Given the description of an element on the screen output the (x, y) to click on. 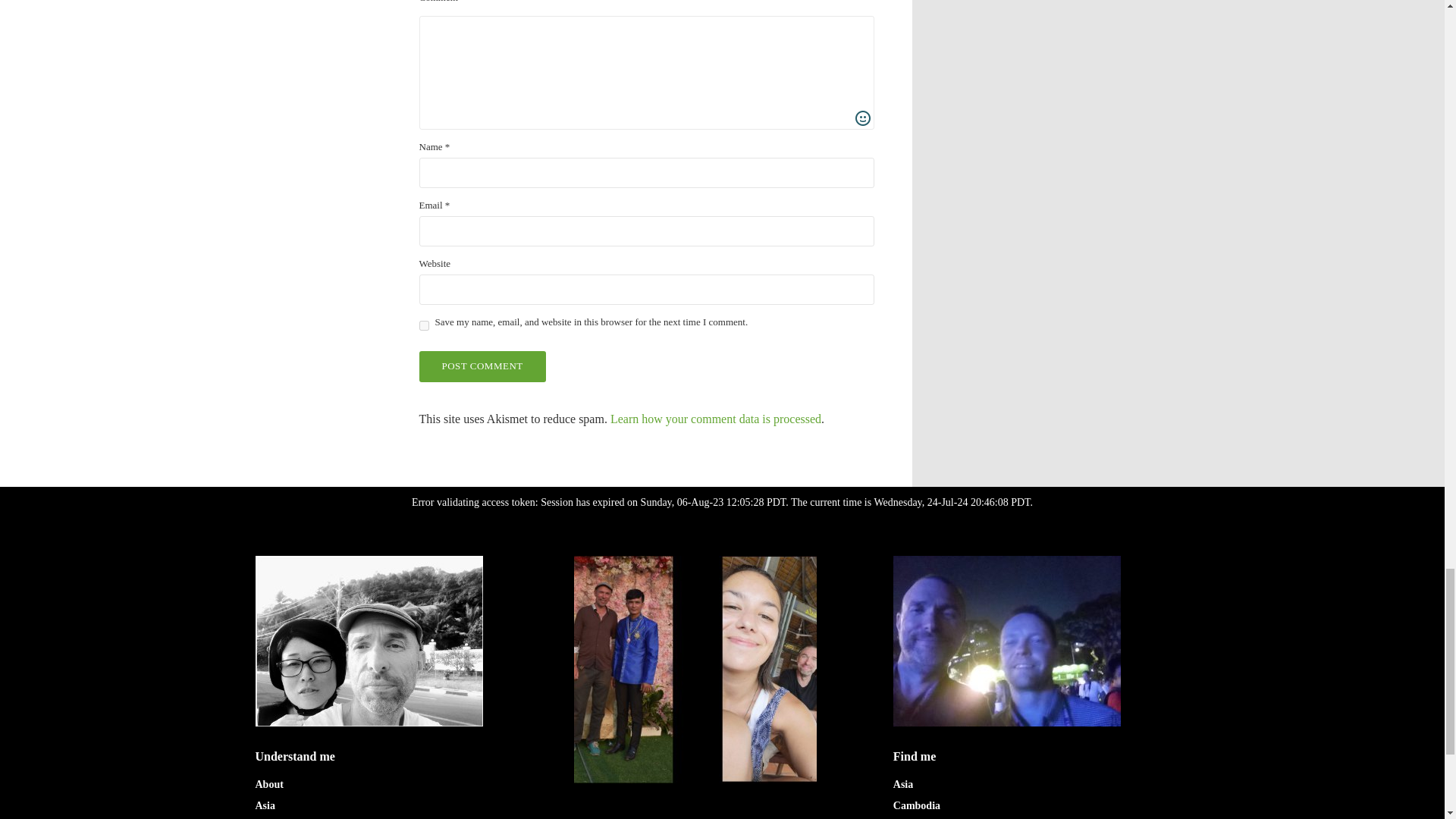
Insert Emoji (863, 118)
yes (423, 325)
Post Comment (481, 366)
